Given the description of an element on the screen output the (x, y) to click on. 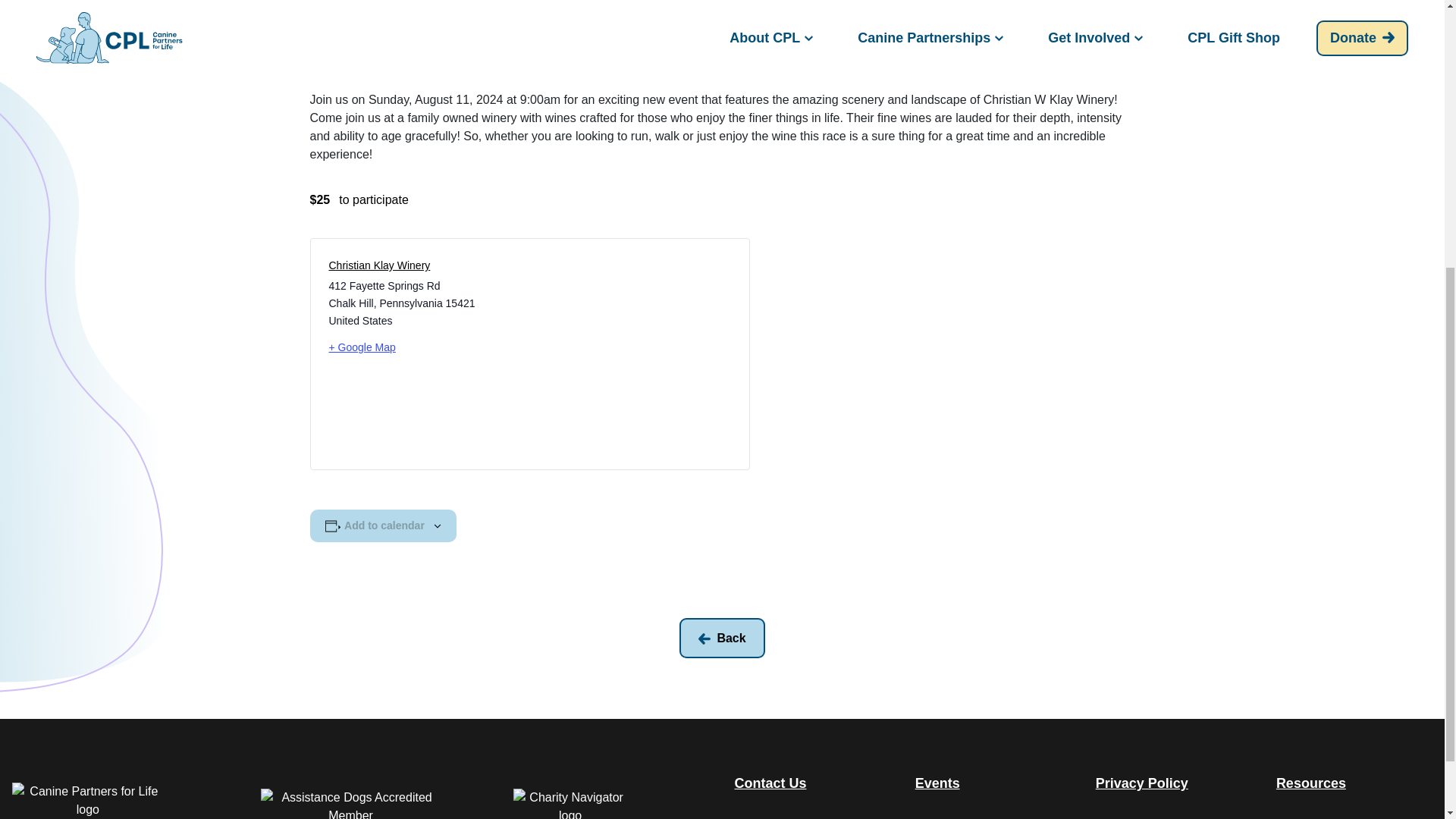
Click to view a Google Map (423, 347)
Christian Klay Winery (379, 265)
Contact Us (770, 783)
Pennsylvania (410, 303)
Add to calendar (384, 525)
Christian Klay Winery (379, 265)
Back (722, 638)
